Given the description of an element on the screen output the (x, y) to click on. 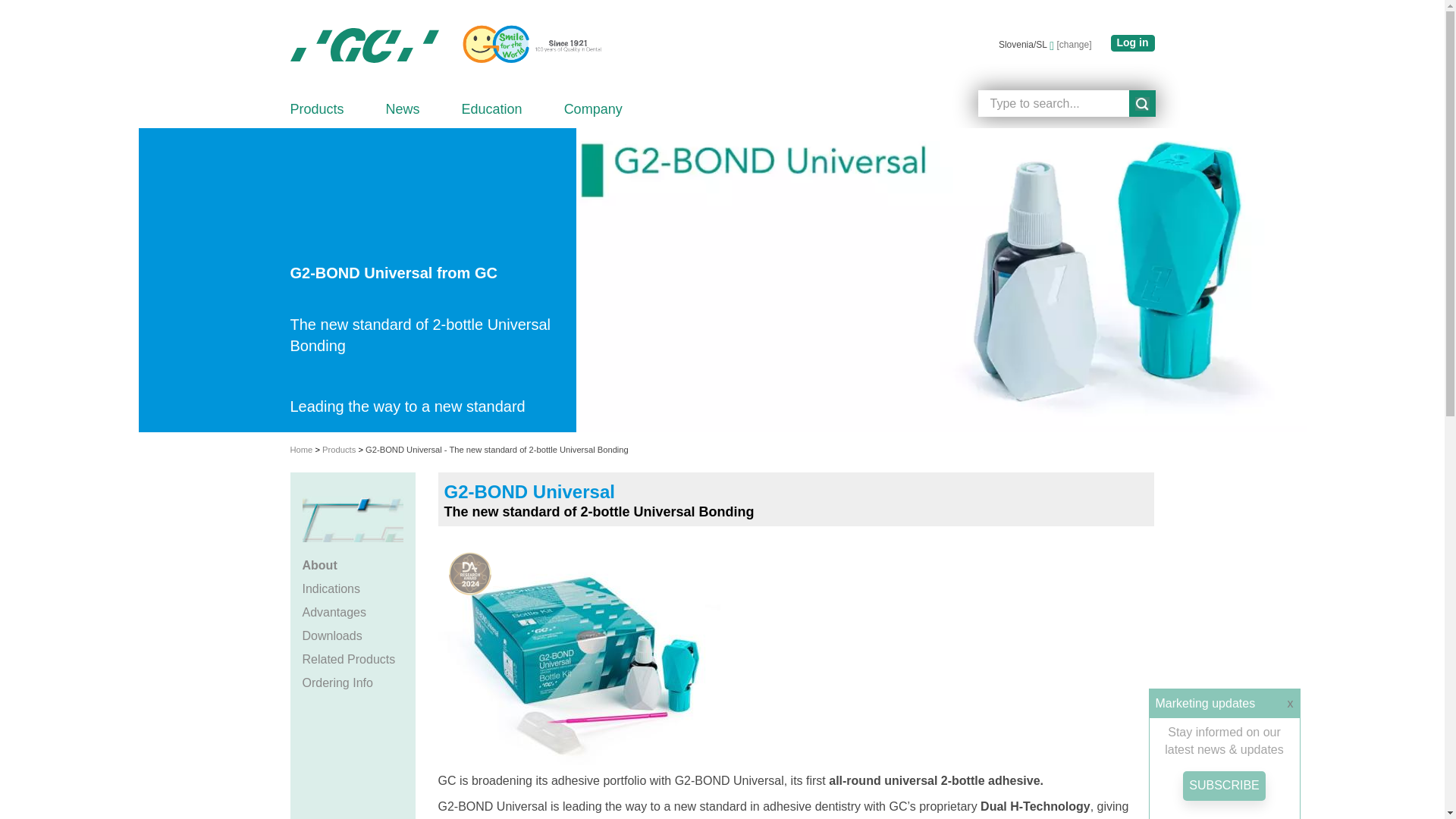
Indications (352, 589)
Log in (1131, 43)
Products (317, 108)
Home (525, 44)
About (352, 566)
Home (363, 45)
G-2 BOND Universal (582, 650)
submit (1141, 103)
Advantages (352, 612)
Downloads (352, 636)
Enter the terms you wish to search for. (1053, 103)
Related Products (352, 659)
